Given the description of an element on the screen output the (x, y) to click on. 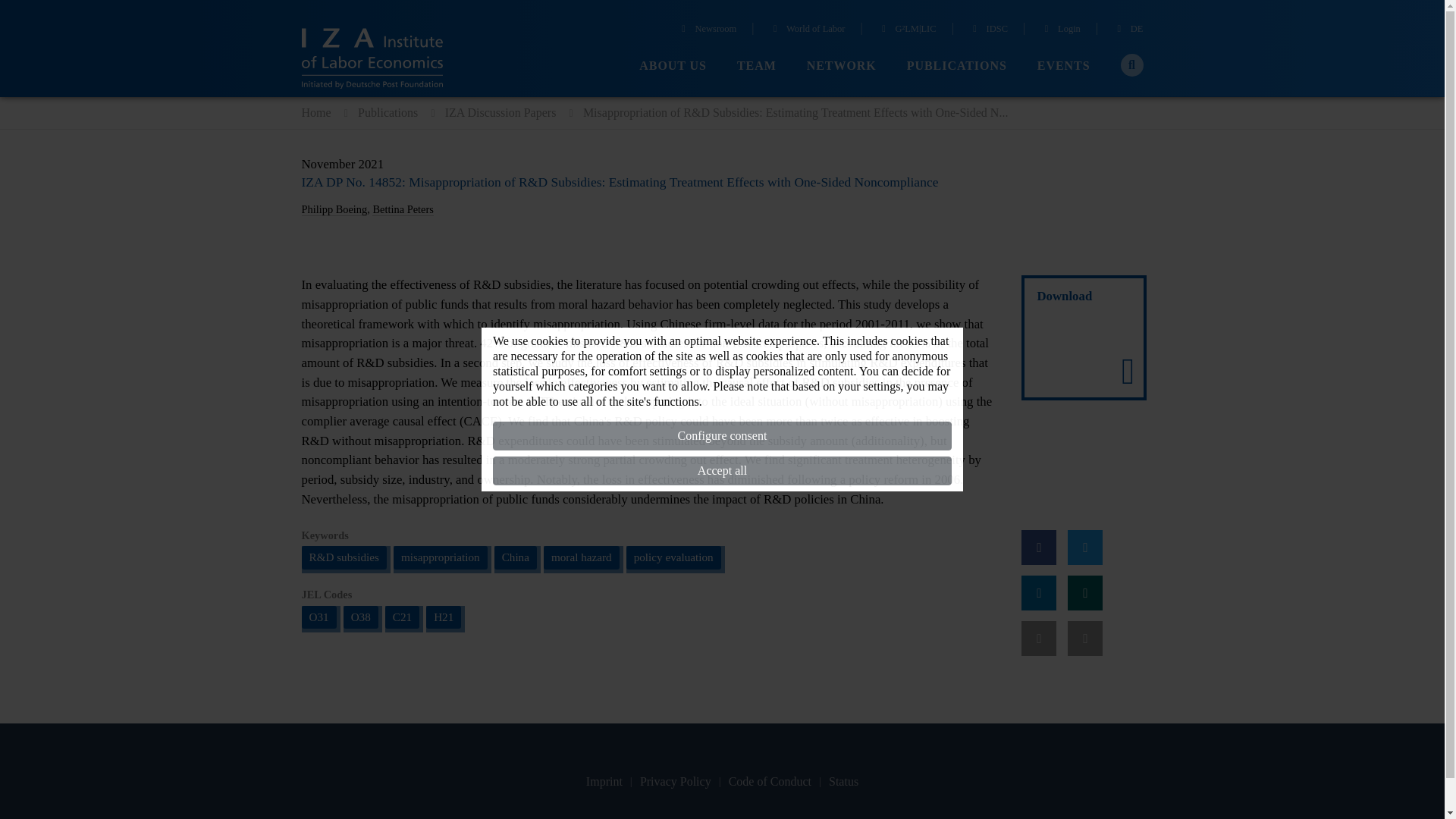
DE (1127, 30)
IDSC (988, 30)
ABOUT US (672, 66)
PUBLICATIONS (957, 66)
NETWORK (841, 66)
World of Labor (807, 30)
Login (1060, 30)
EVENTS (1063, 66)
Newsroom (707, 30)
TEAM (756, 66)
